Given the description of an element on the screen output the (x, y) to click on. 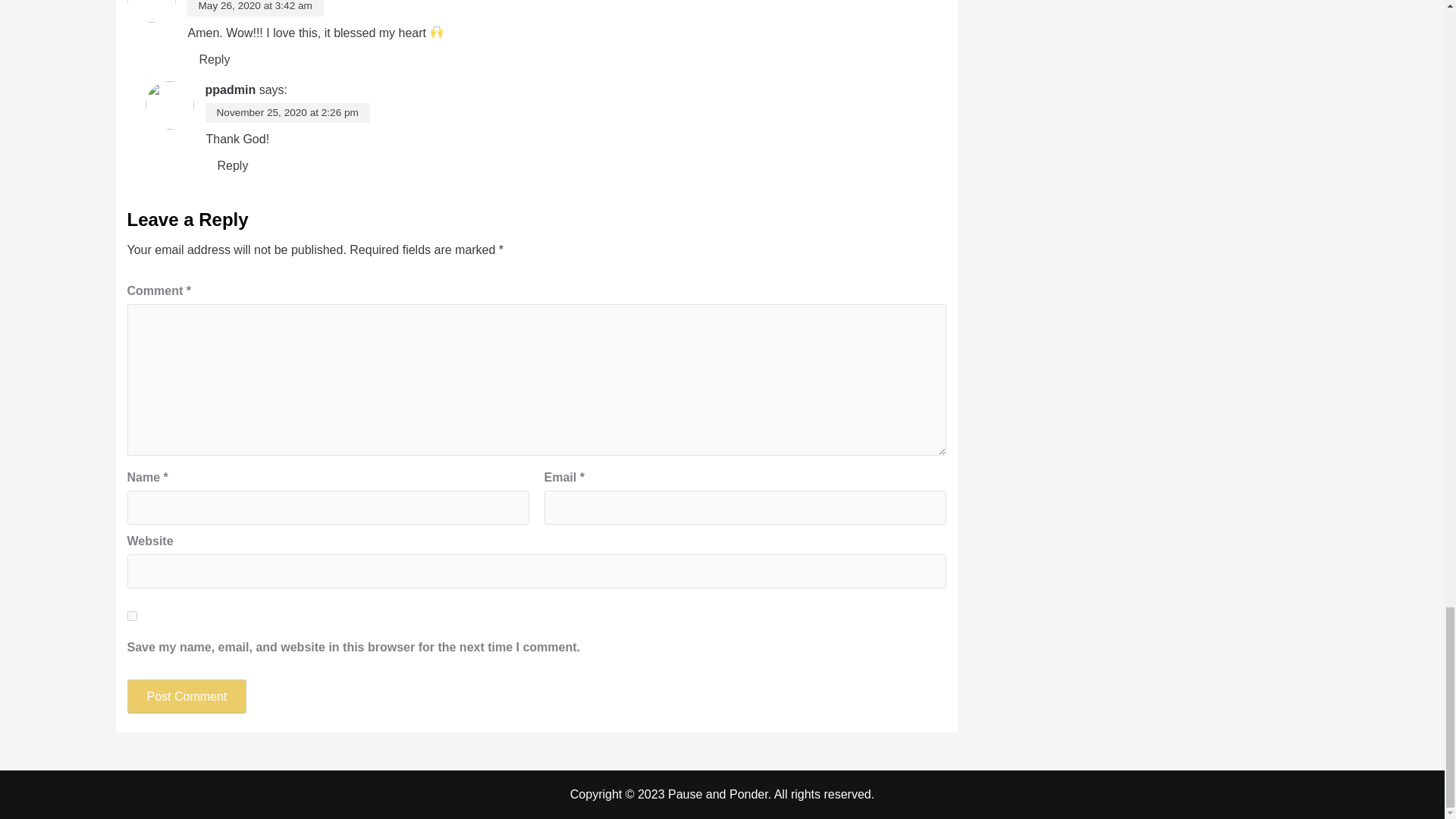
yes (132, 615)
Reply (214, 58)
November 25, 2020 at 2:26 pm (287, 112)
May 26, 2020 at 3:42 am (255, 5)
Reply (233, 166)
ppadmin (230, 88)
Post Comment (187, 696)
Post Comment (187, 696)
